Given the description of an element on the screen output the (x, y) to click on. 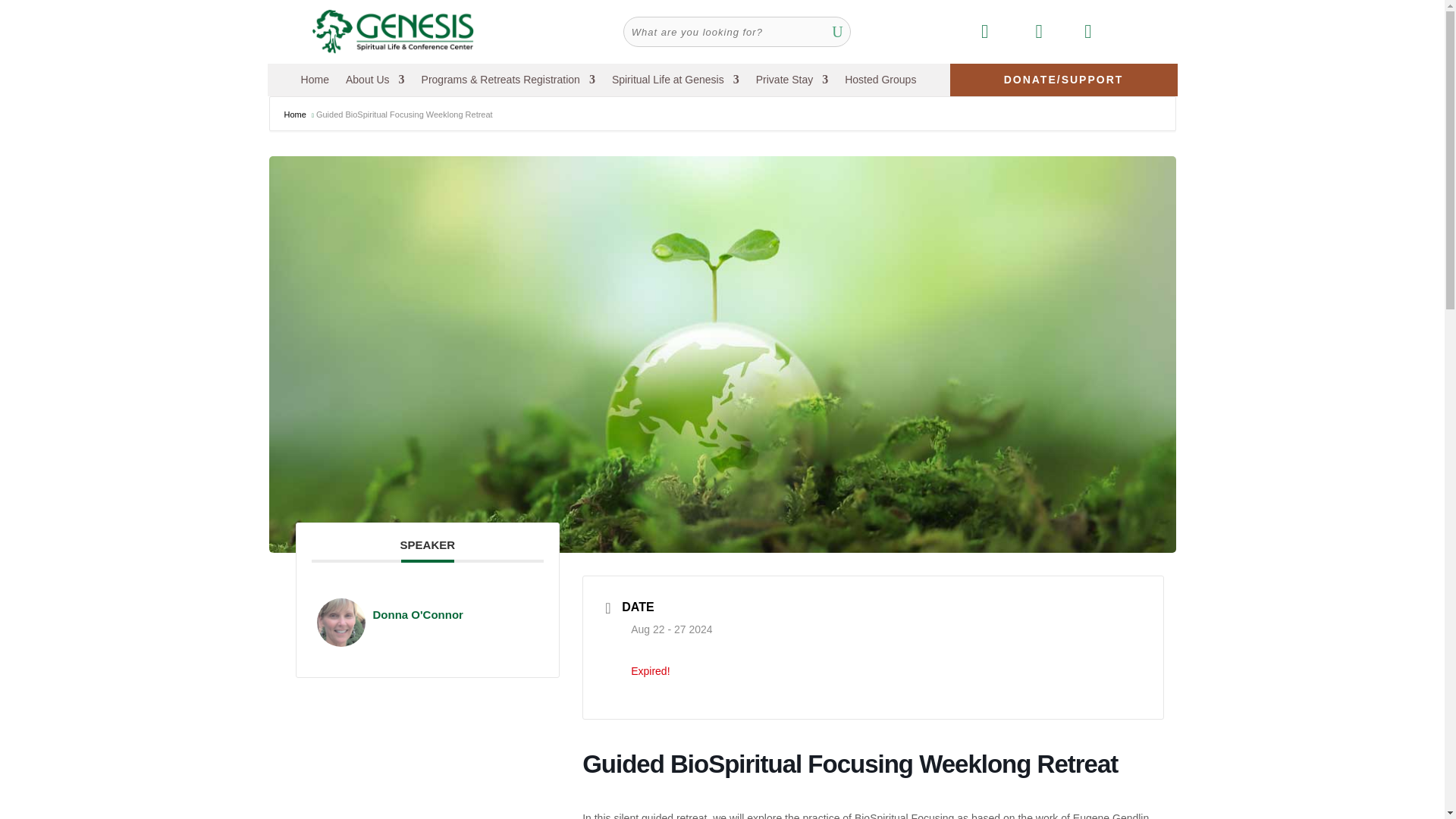
Spiritual Life at Genesis (675, 82)
2021-Genesis-Logo (393, 31)
Hosted Groups (879, 82)
Home (315, 82)
Private Stay (791, 82)
About Us (375, 82)
